Given the description of an element on the screen output the (x, y) to click on. 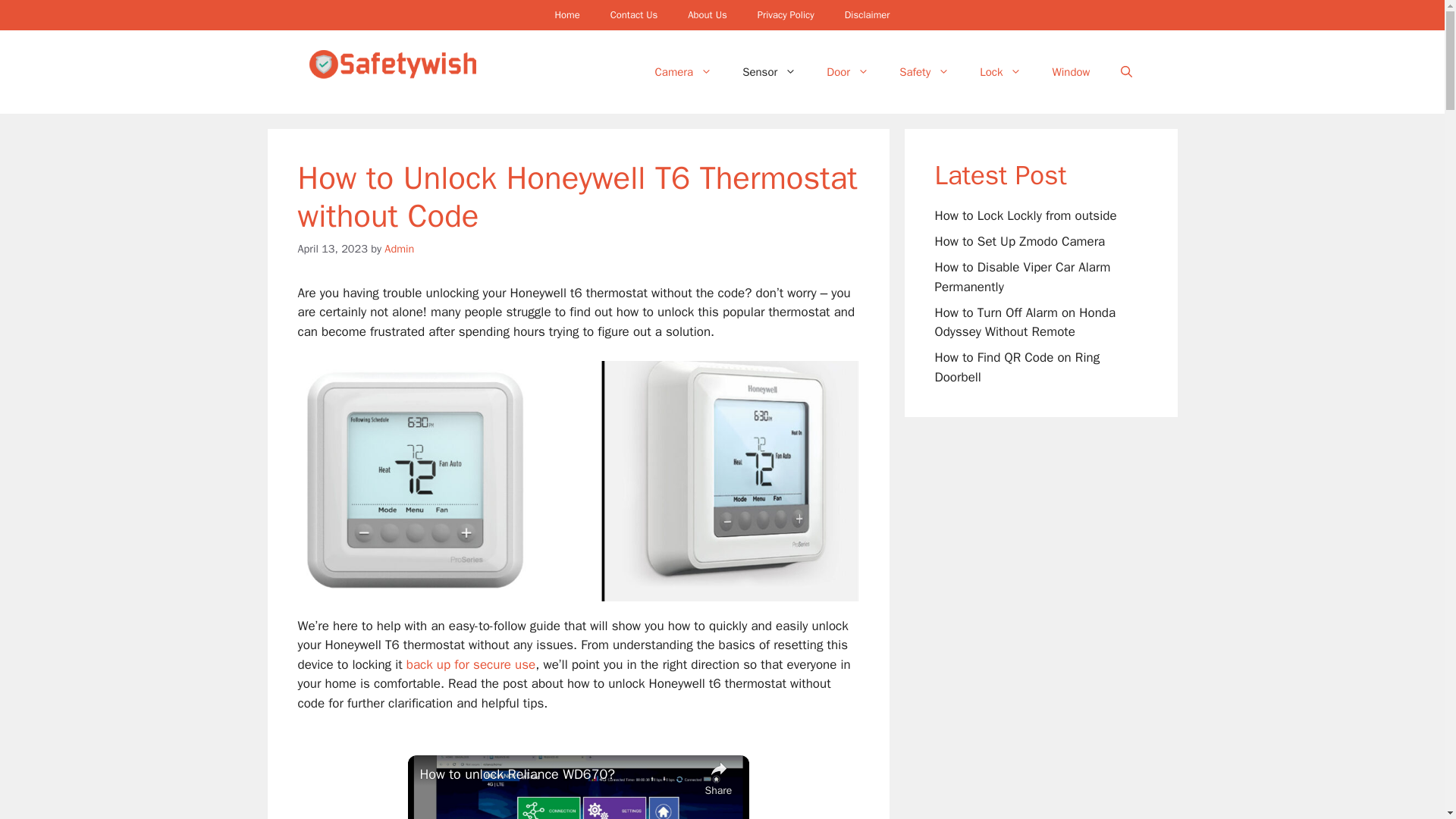
Door (846, 72)
How to unlock Reliance WD670? (558, 774)
back up for secure use (470, 664)
View all posts by Admin (398, 248)
About Us (706, 15)
Safety (923, 72)
Home (566, 15)
Sensor (768, 72)
Privacy Policy (785, 15)
Camera (684, 72)
Window (1070, 72)
Contact Us (633, 15)
Lock (999, 72)
Disclaimer (867, 15)
Admin (398, 248)
